Given the description of an element on the screen output the (x, y) to click on. 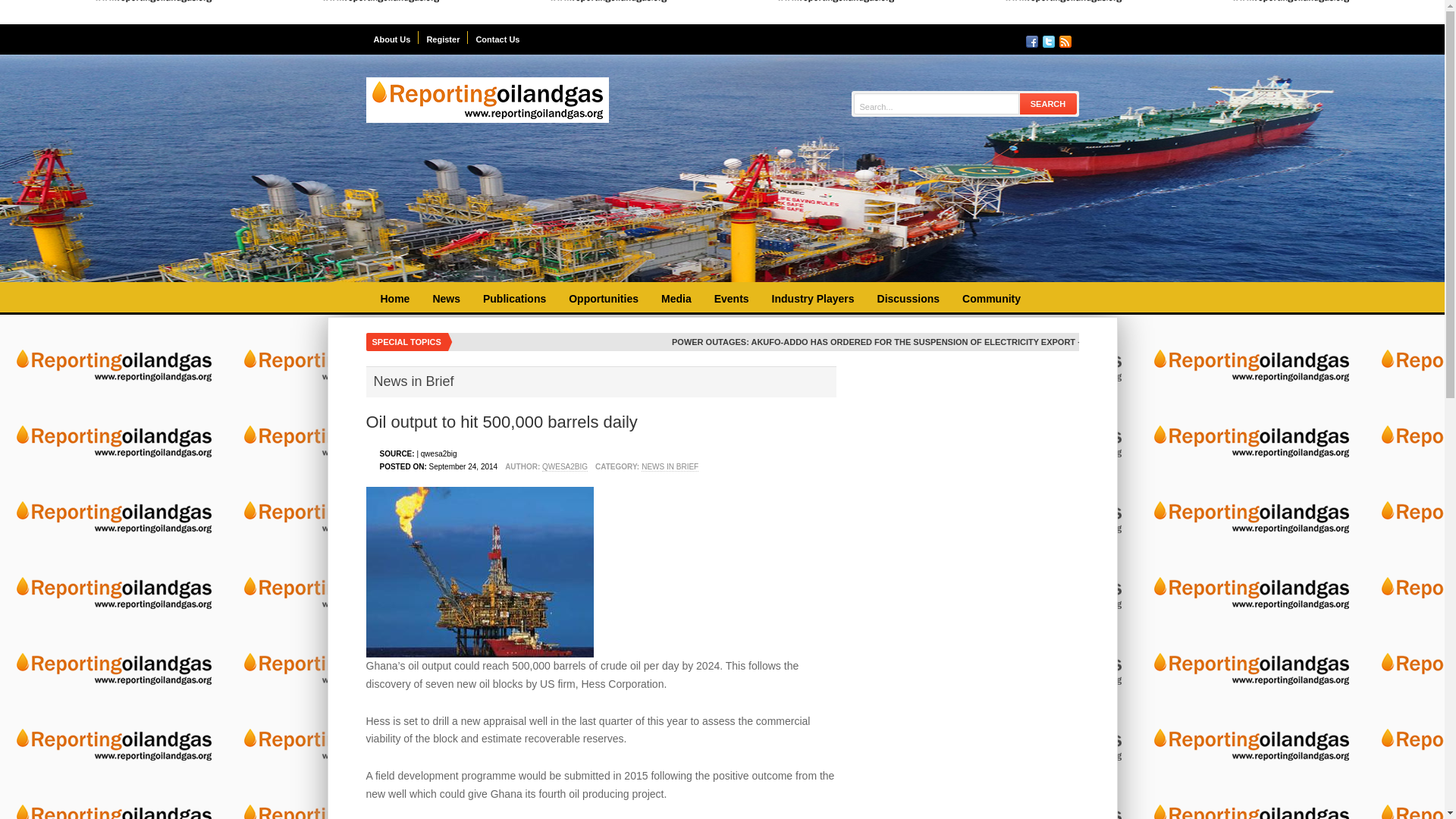
NEWS IN BRIEF (670, 466)
RSS (1064, 41)
Publications (514, 298)
QWESA2BIG (564, 466)
Discussions (908, 298)
Facebook (1030, 41)
Home (394, 298)
About Us (391, 37)
Twitter (1048, 41)
News (445, 298)
Register (442, 37)
Events (731, 298)
Search (1047, 103)
Industry Players (813, 298)
